Given the description of an element on the screen output the (x, y) to click on. 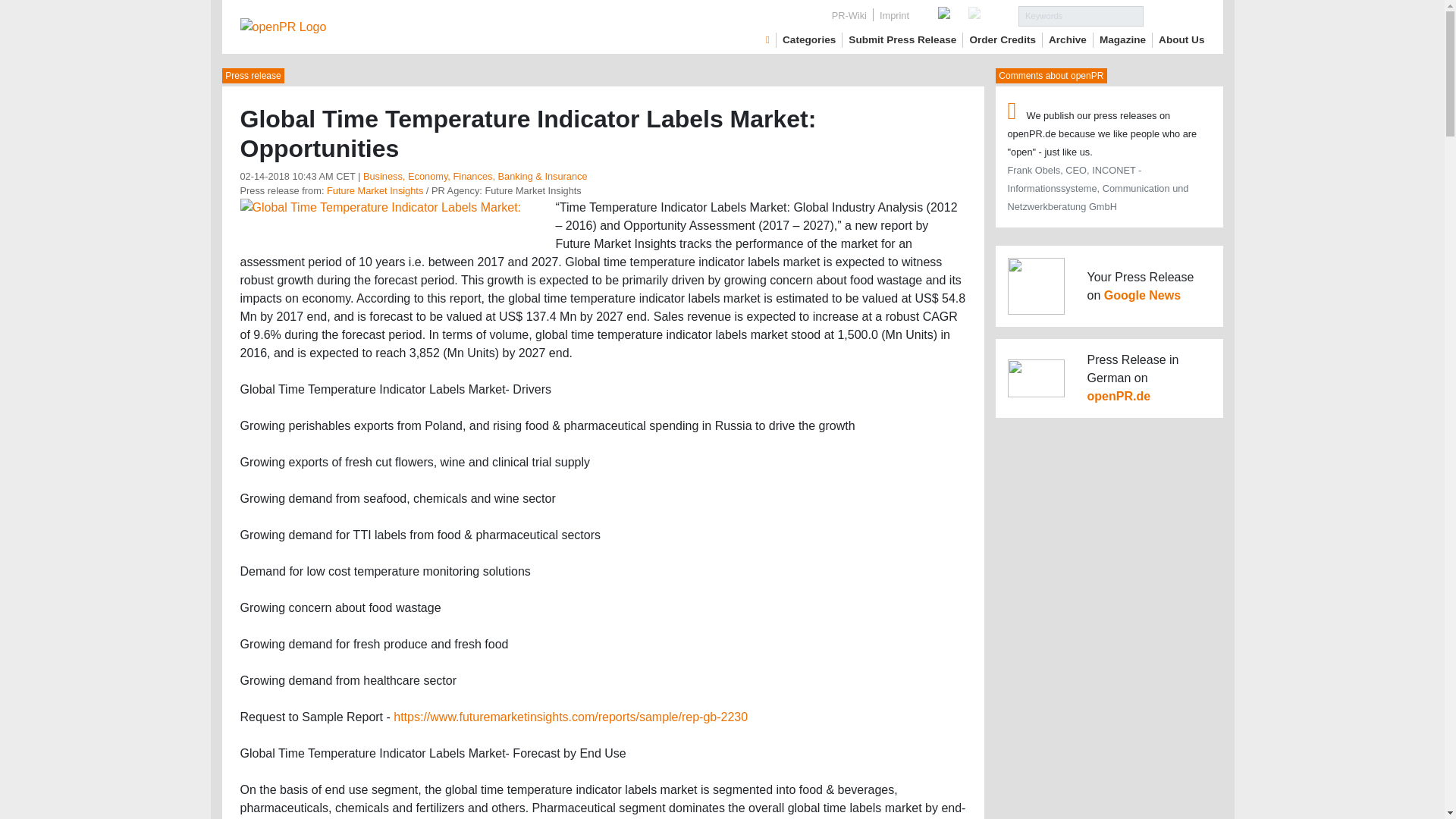
About Us (1181, 39)
Magazine (1122, 39)
Global Time Temperature Indicator Labels Market: (380, 206)
Archive (1067, 39)
PR-Wiki (848, 15)
Submit Press Release (902, 39)
Search   (1173, 15)
Imprint (894, 15)
Future Market Insights (374, 190)
archive und pressrelease of Future Market Insights (374, 190)
Order Credits (1002, 39)
Categories (809, 39)
